Given the description of an element on the screen output the (x, y) to click on. 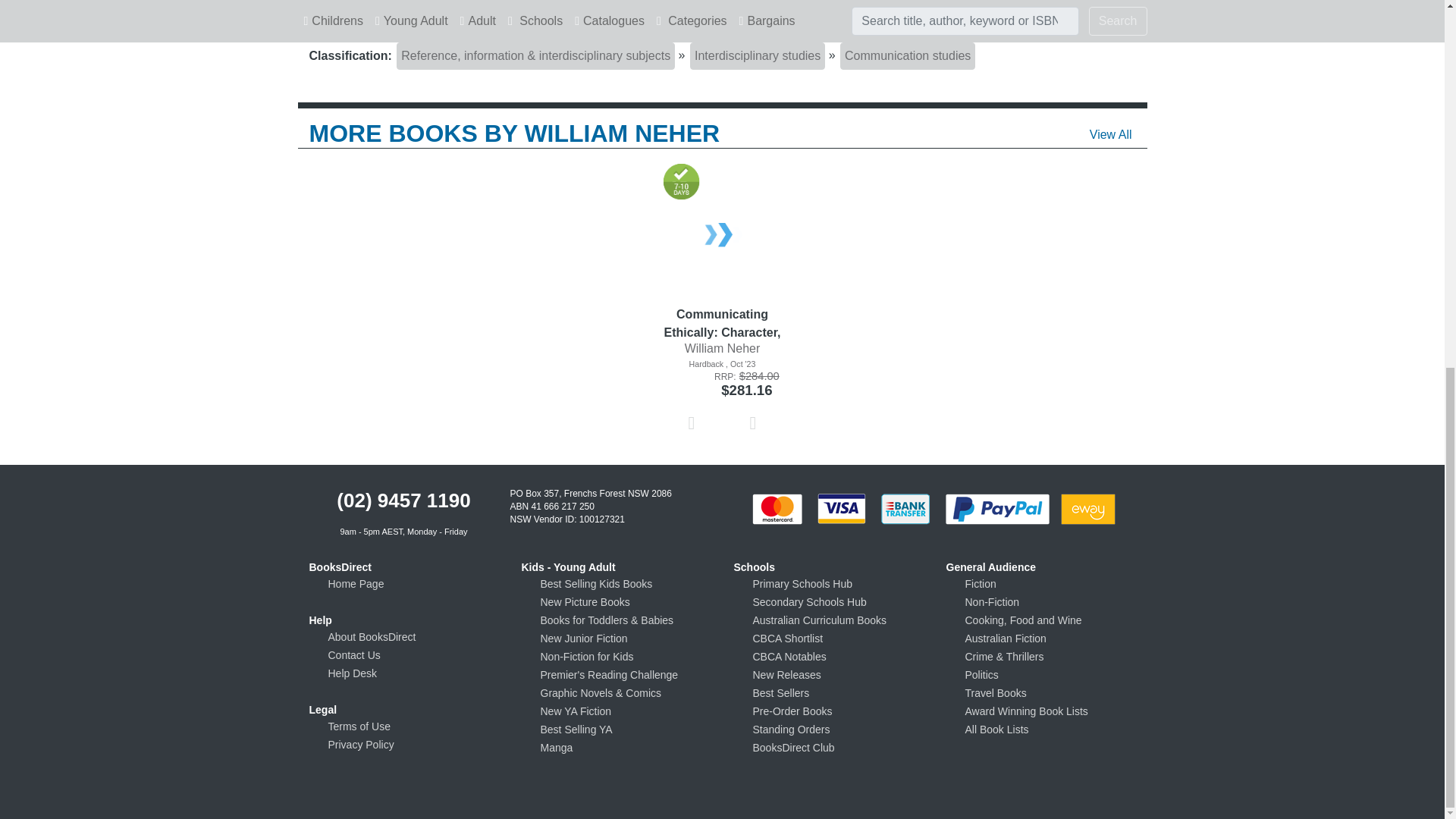
William Neher (722, 348)
View other books by author William Neher (722, 348)
Hardback (722, 363)
